Given the description of an element on the screen output the (x, y) to click on. 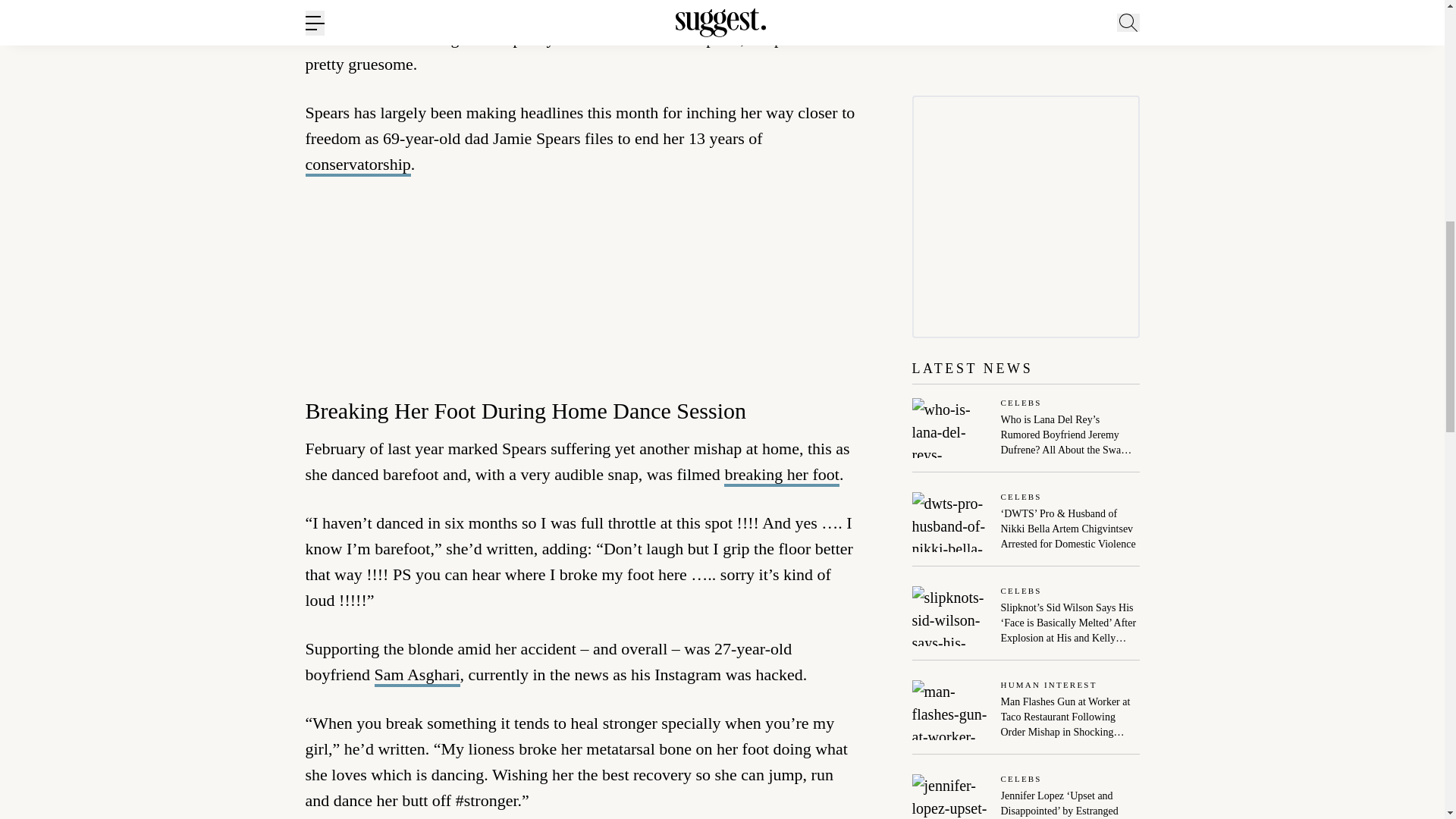
Sam Asghari (417, 675)
conservatorship (357, 165)
Celebs (1070, 497)
Celebs (1070, 403)
breaking her foot (781, 475)
